Given the description of an element on the screen output the (x, y) to click on. 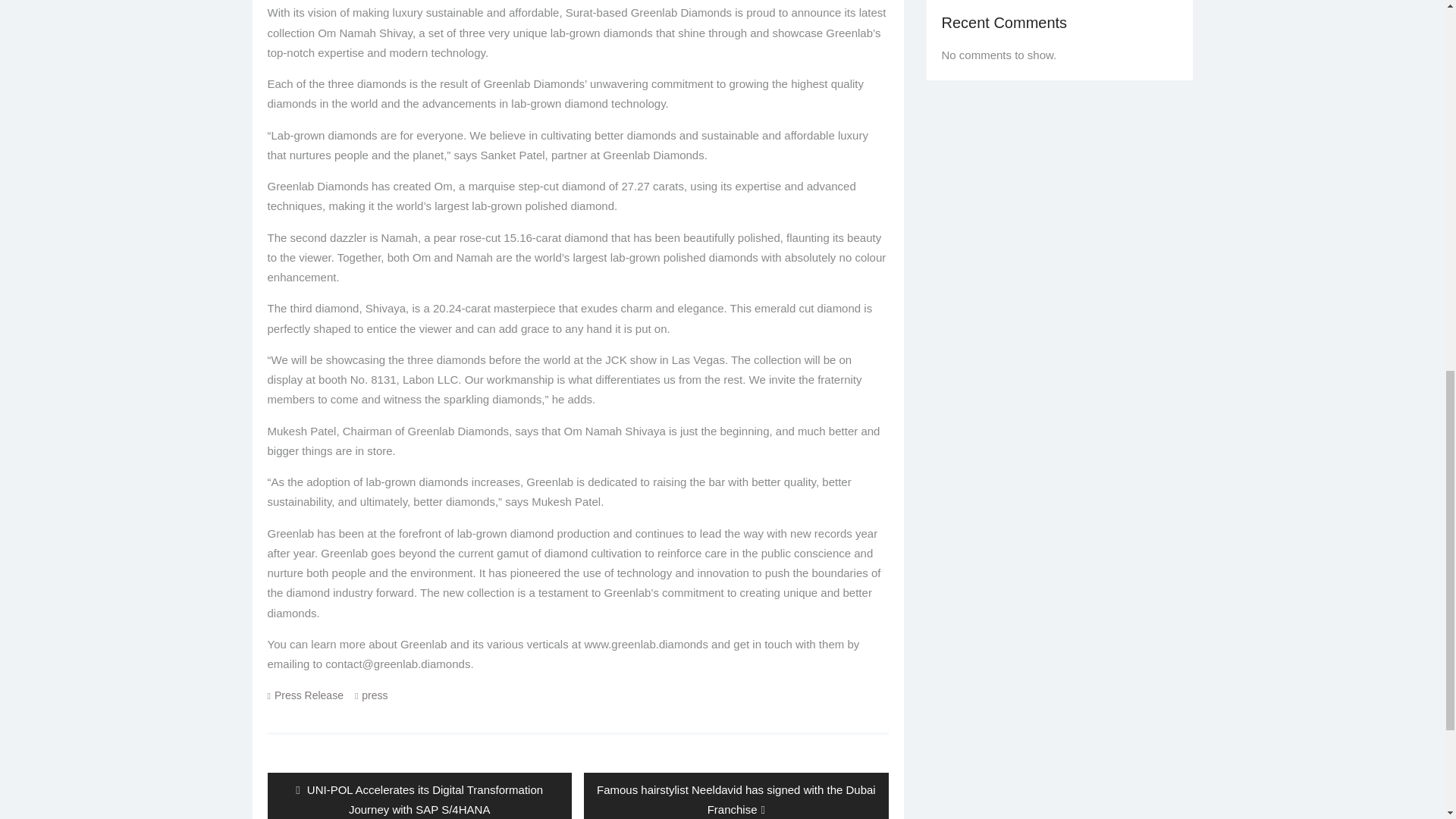
Press Release (309, 695)
